Given the description of an element on the screen output the (x, y) to click on. 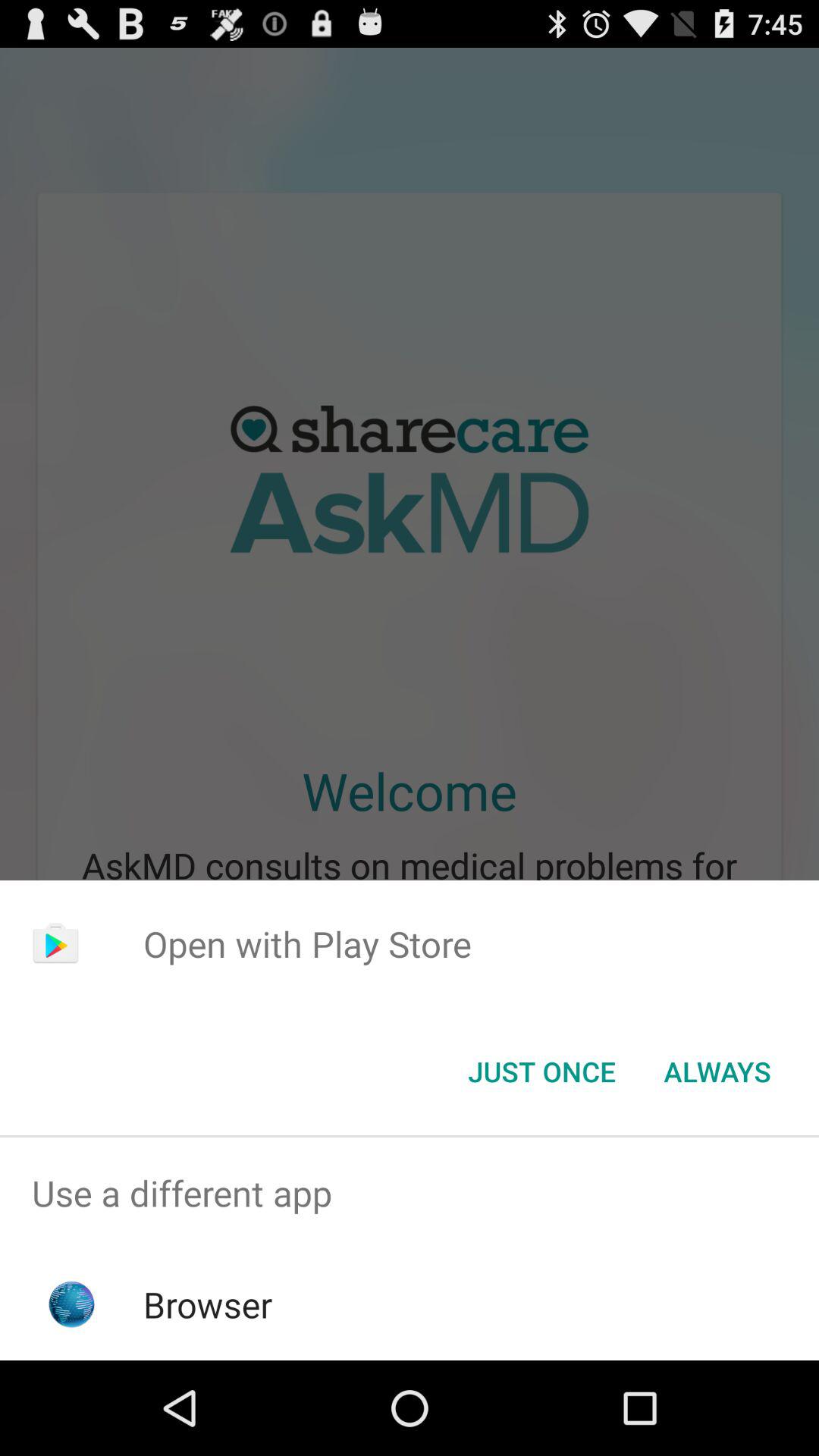
click the use a different (409, 1192)
